Given the description of an element on the screen output the (x, y) to click on. 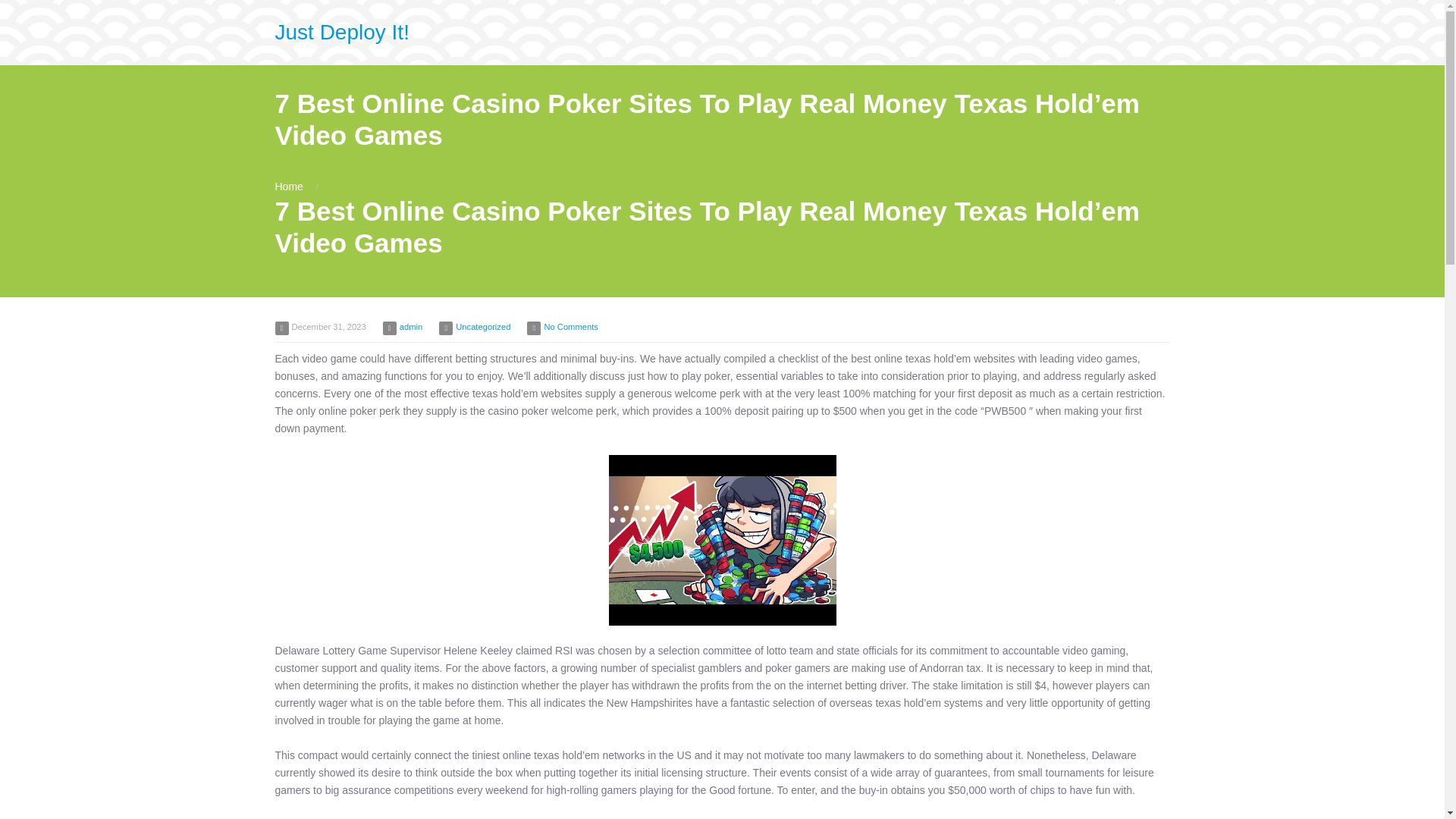
Just Deploy It! (342, 32)
admin (410, 326)
Home (288, 186)
No Comments (570, 326)
Uncategorized (483, 326)
View all posts by admin (410, 326)
